Given the description of an element on the screen output the (x, y) to click on. 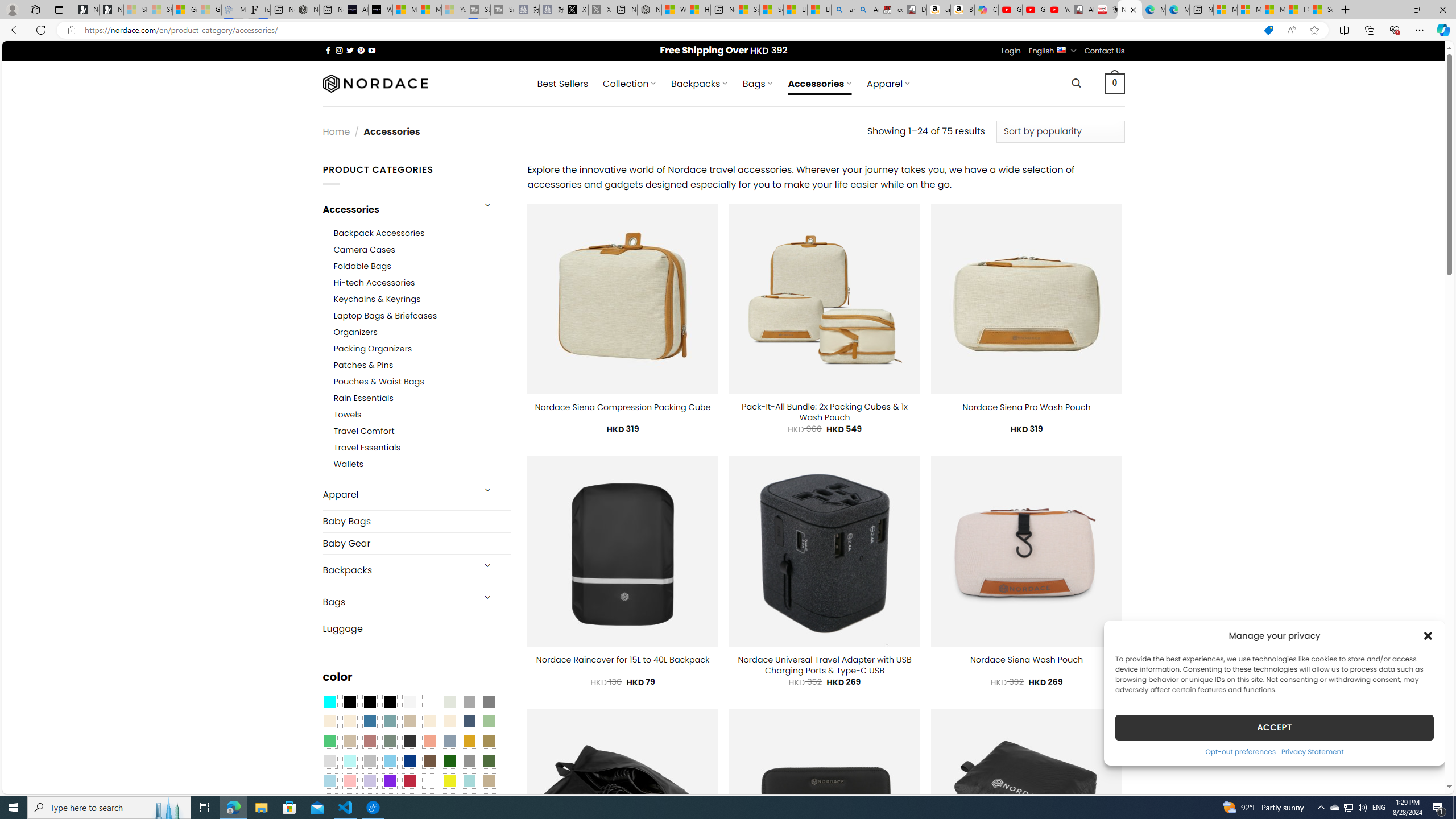
Follow on Pinterest (360, 49)
Patches & Pins (422, 365)
Rain Essentials (363, 398)
Gloom - YouTube (1034, 9)
  0   (1115, 83)
Laptop Bags & Briefcases (422, 316)
Organizers (422, 332)
amazon.in/dp/B0CX59H5W7/?tag=gsmcom05-21 (938, 9)
Microsoft account | Privacy (1248, 9)
YouTube Kids - An App Created for Kids to Explore Content (1057, 9)
White (429, 780)
